Given the description of an element on the screen output the (x, y) to click on. 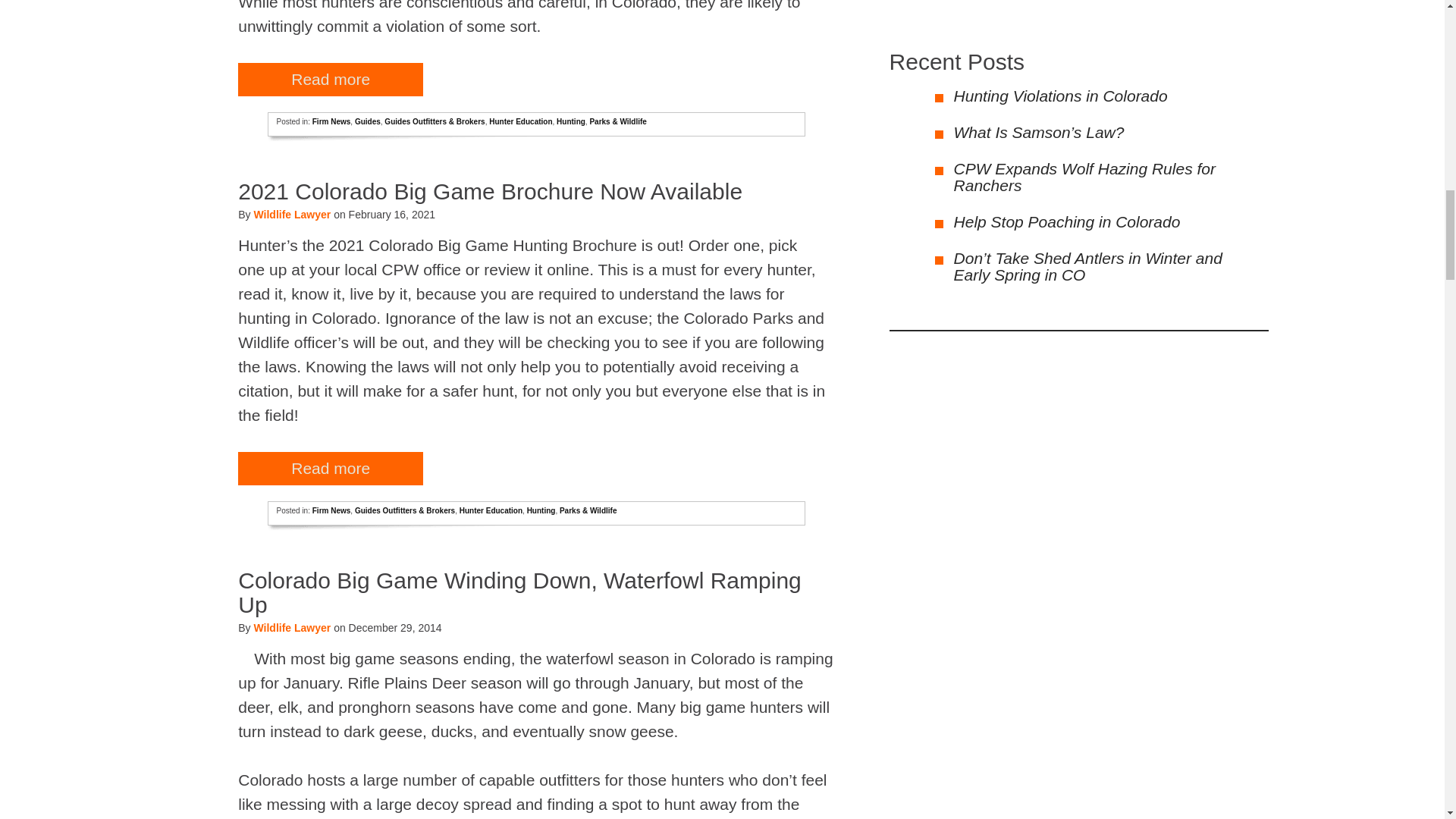
Guides (367, 121)
Hunting (570, 121)
Hunter Education (520, 121)
2021 Colorado Big Game Brochure Now Available (490, 191)
2021 Colorado Big Game Brochure Now Available (490, 191)
Wildlife Lawyer (291, 214)
Read more (330, 78)
Colorado Big Game Winding Down, Waterfowl Ramping Up (520, 591)
Firm News (331, 121)
Read more (330, 468)
